Given the description of an element on the screen output the (x, y) to click on. 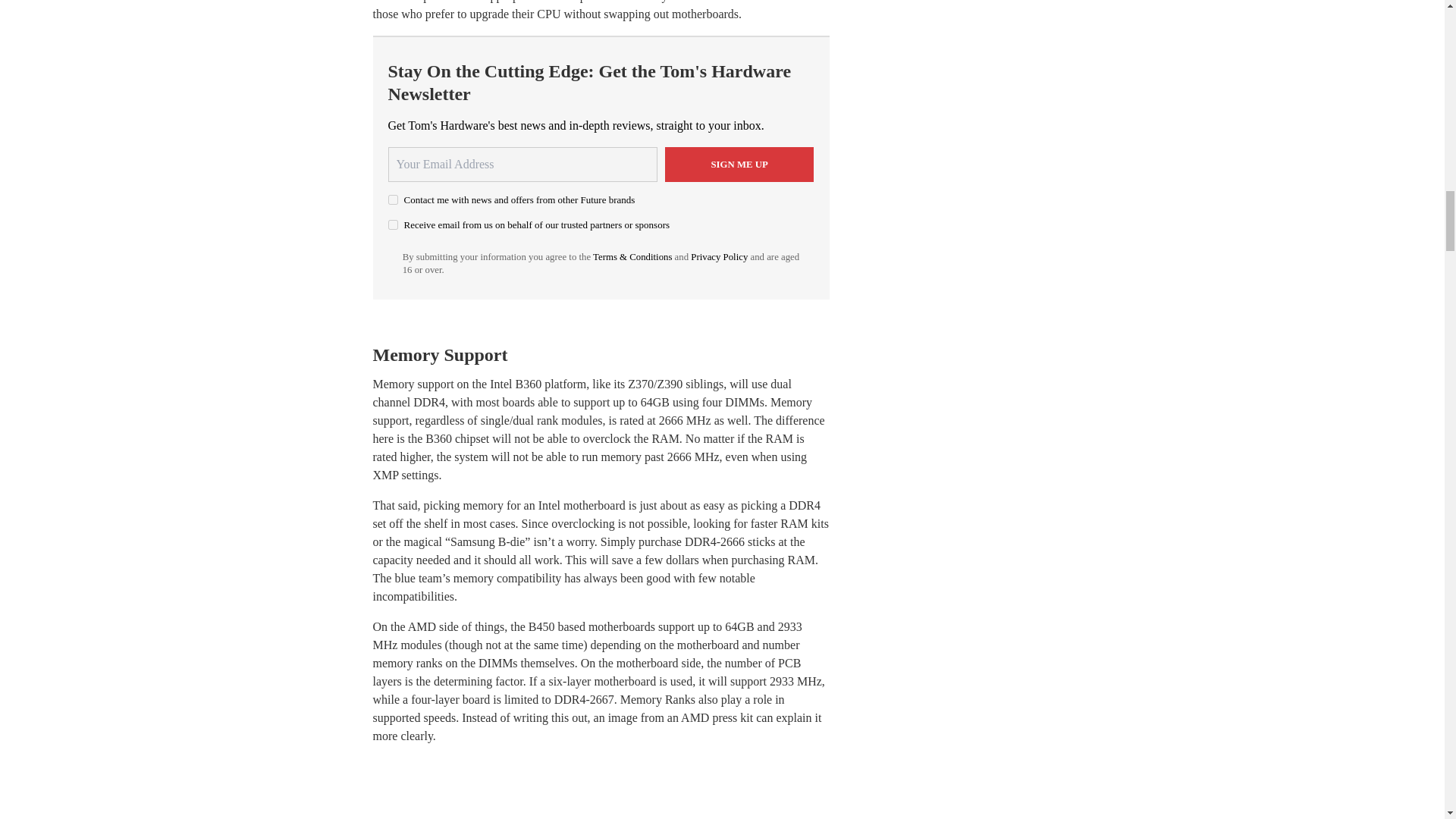
on (392, 225)
Sign me up (739, 164)
on (392, 199)
